Given the description of an element on the screen output the (x, y) to click on. 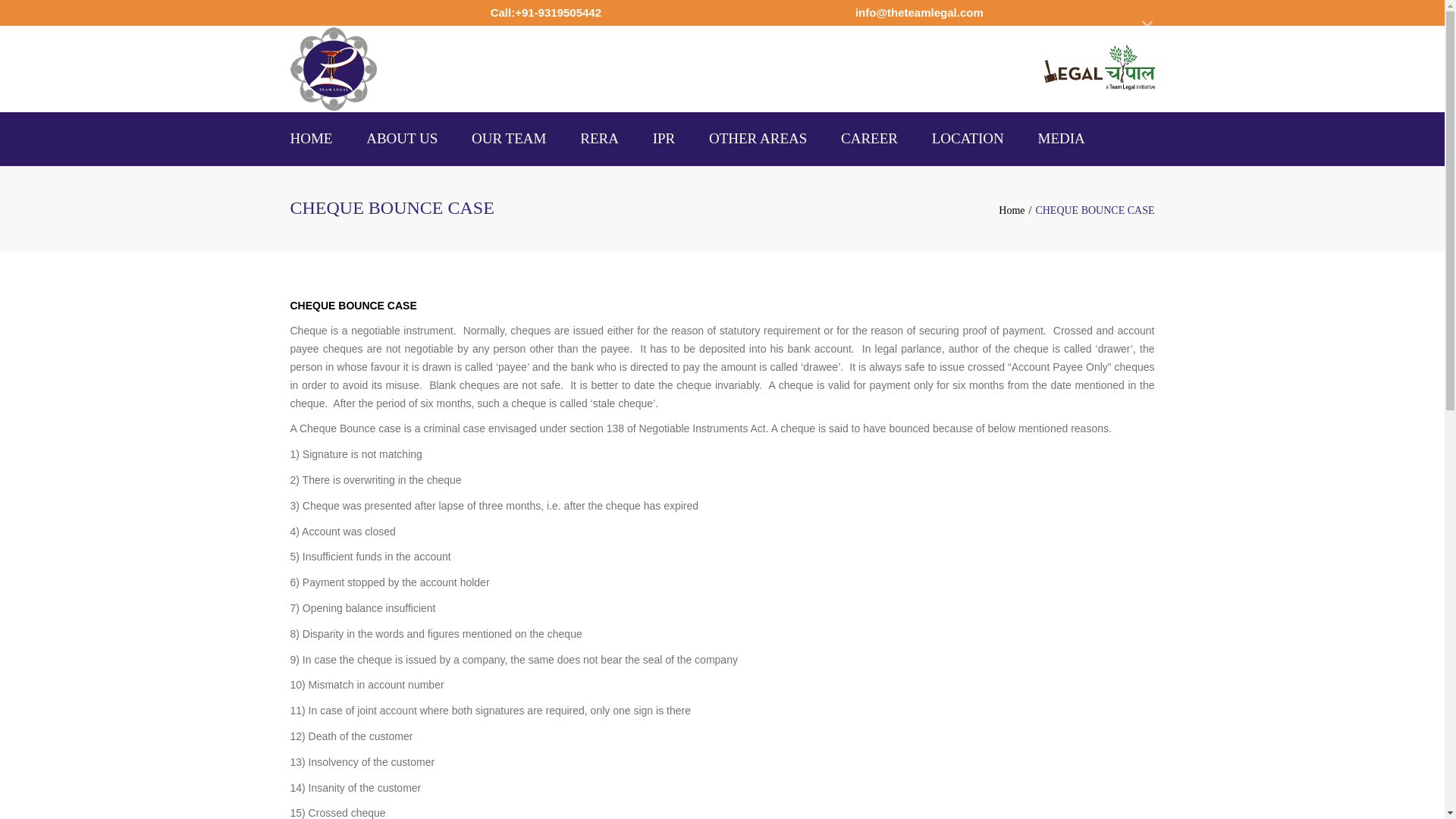
ABOUT US (401, 139)
CAREER (868, 139)
OUR TEAM (508, 139)
OTHER AREAS (757, 139)
RERA (599, 139)
HOME (310, 139)
